Given the description of an element on the screen output the (x, y) to click on. 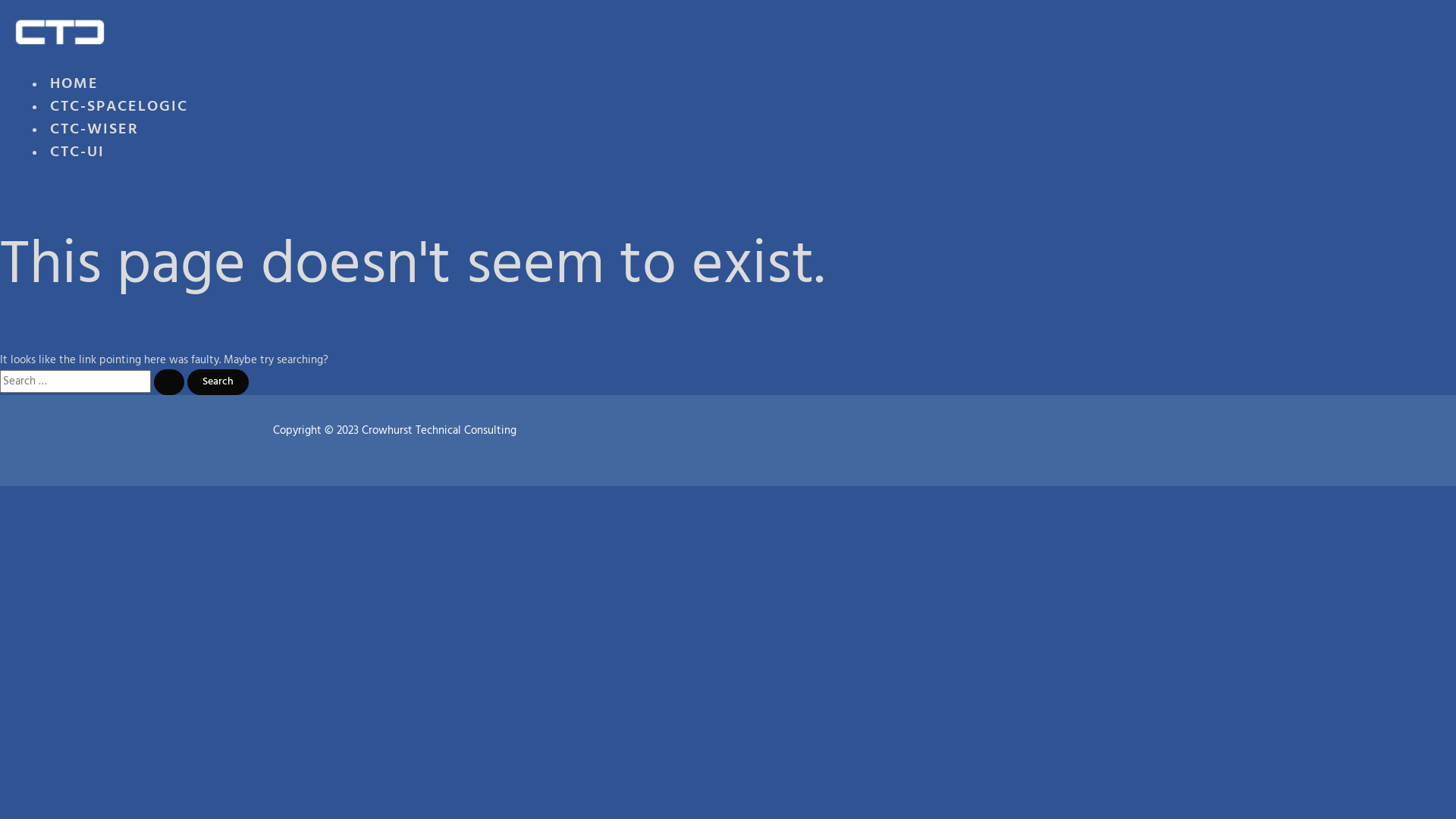
CTC-SPACELOGIC Element type: text (118, 112)
CTC-WISER Element type: text (94, 134)
Search Element type: text (217, 382)
CTC-UI Element type: text (77, 157)
HOME Element type: text (74, 89)
